Given the description of an element on the screen output the (x, y) to click on. 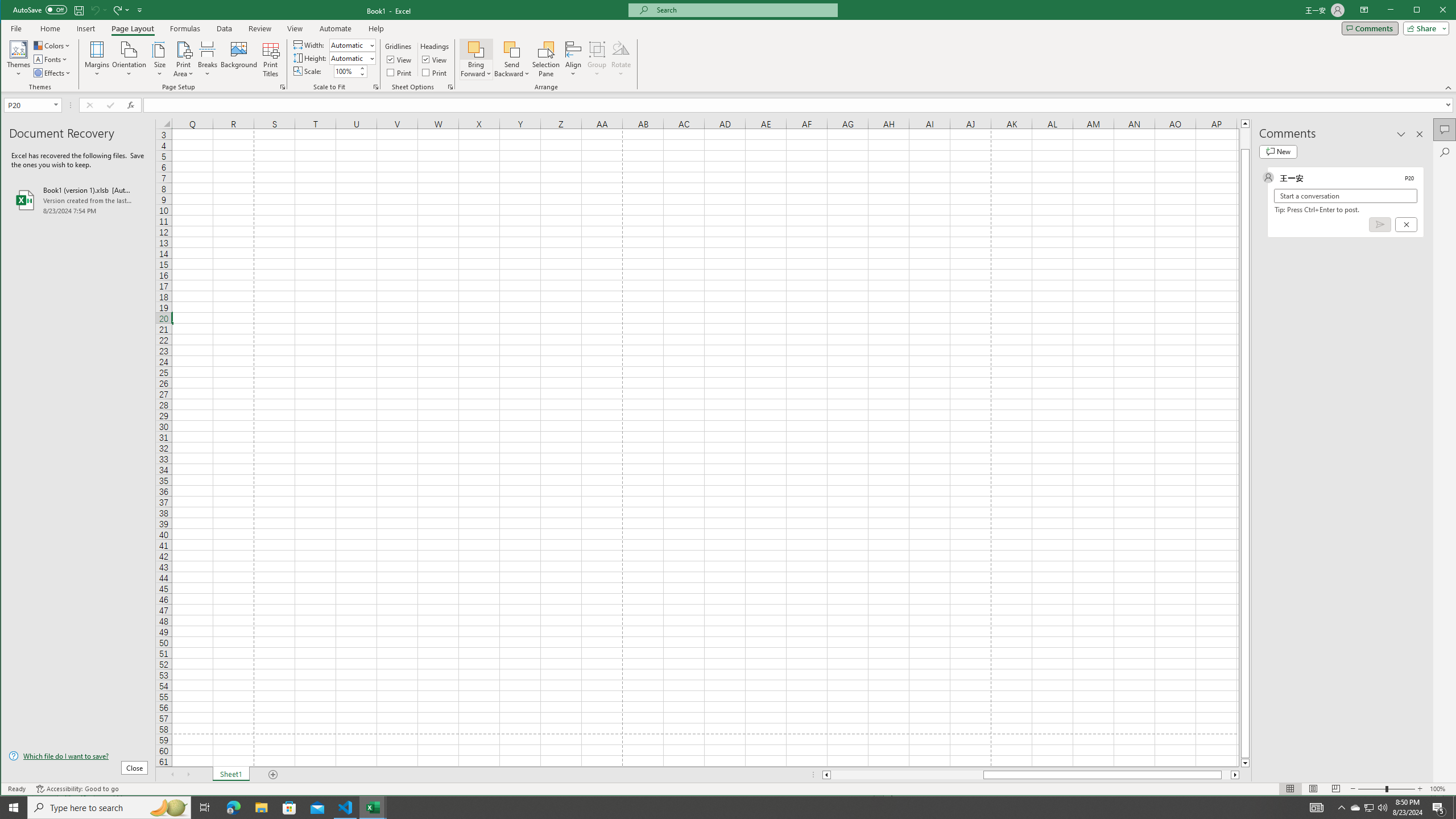
Excel - 2 running windows (373, 807)
Height (352, 57)
Orientation (129, 59)
Book1 (version 1).xlsb  [AutoRecovered] (78, 199)
More (361, 68)
Send Backward (512, 48)
Automate (336, 28)
